Given the description of an element on the screen output the (x, y) to click on. 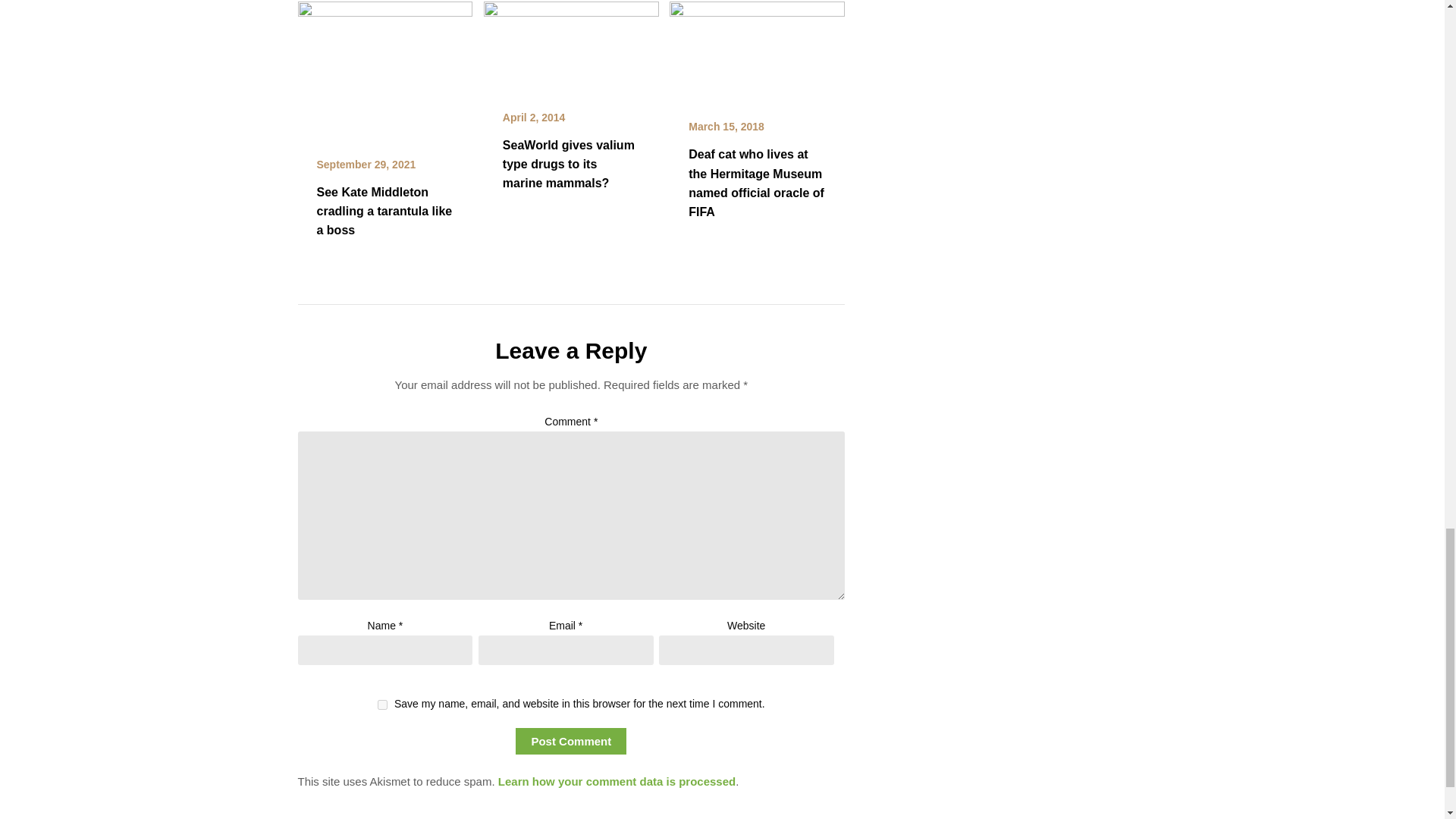
Learn how your comment data is processed (616, 780)
See Kate Middleton cradling a tarantula like a boss (384, 68)
Post Comment (570, 741)
SeaWorld gives valium type drugs to its marine mammals? (568, 163)
See Kate Middleton cradling a tarantula like a boss (384, 210)
Post Comment (570, 741)
yes (382, 705)
SeaWorld gives valium type drugs to its marine mammals? (571, 45)
